Given the description of an element on the screen output the (x, y) to click on. 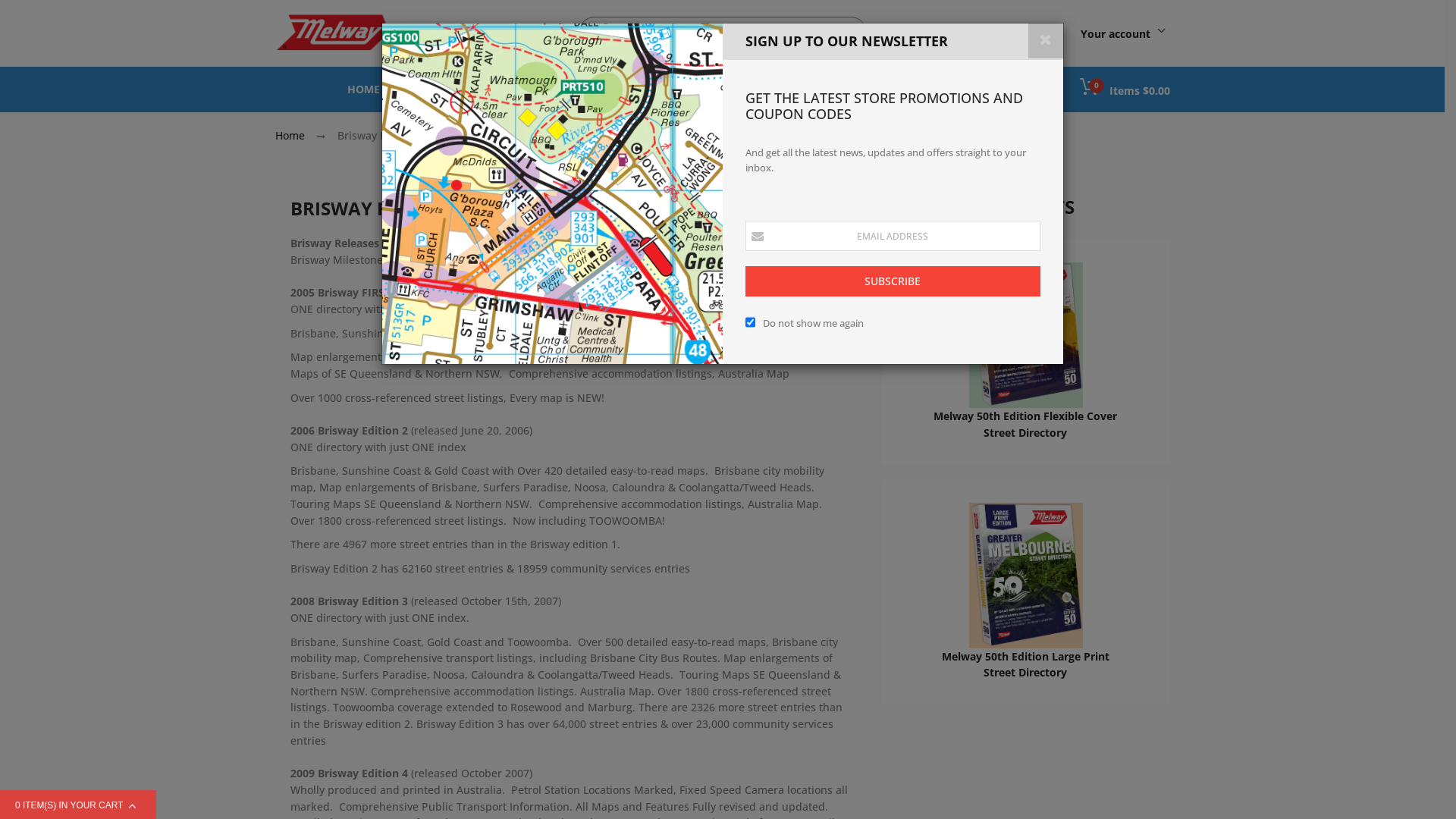
1300 635 929 Element type: text (974, 31)
WALLMAPS Element type: text (654, 88)
SUBSCRIBE Element type: text (891, 281)
Melway 50th Edition Flexible Cover Street Directory Element type: hover (1025, 334)
Melway 50th Edition Large Print Street Directory Element type: text (1025, 664)
Melway 50th Edition Large Print Street Directory Element type: hover (1025, 573)
APPS Element type: text (589, 88)
Submit Element type: text (846, 32)
Your account Element type: text (1124, 33)
ONLINE MAPS Element type: text (743, 88)
0
Items $0.00 Element type: text (1124, 87)
HOME Element type: text (363, 88)
CONTACT US Element type: text (911, 88)
SIGN UP TO OUR NEWSLETTER Element type: hover (552, 193)
Email address Element type: hover (891, 235)
BOOKS Element type: text (419, 88)
DIGITAL MAPPING Element type: text (506, 88)
Home Element type: text (290, 135)
ABOUT US Element type: text (829, 88)
Melway 50th Edition Flexible Cover Street Directory Element type: text (1025, 423)
